Given the description of an element on the screen output the (x, y) to click on. 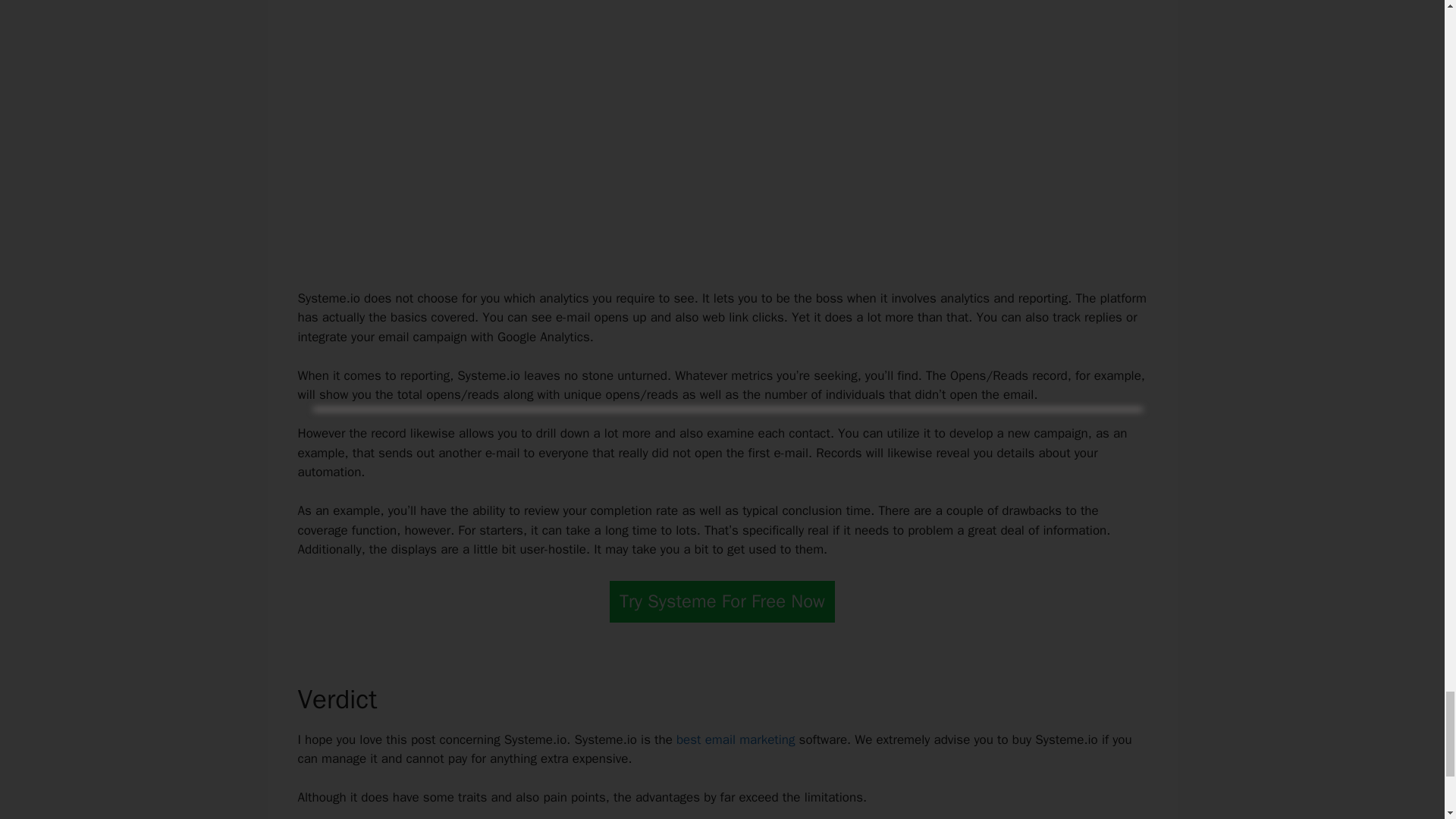
Try Systeme For Free Now (722, 601)
best email marketing (735, 739)
